Given the description of an element on the screen output the (x, y) to click on. 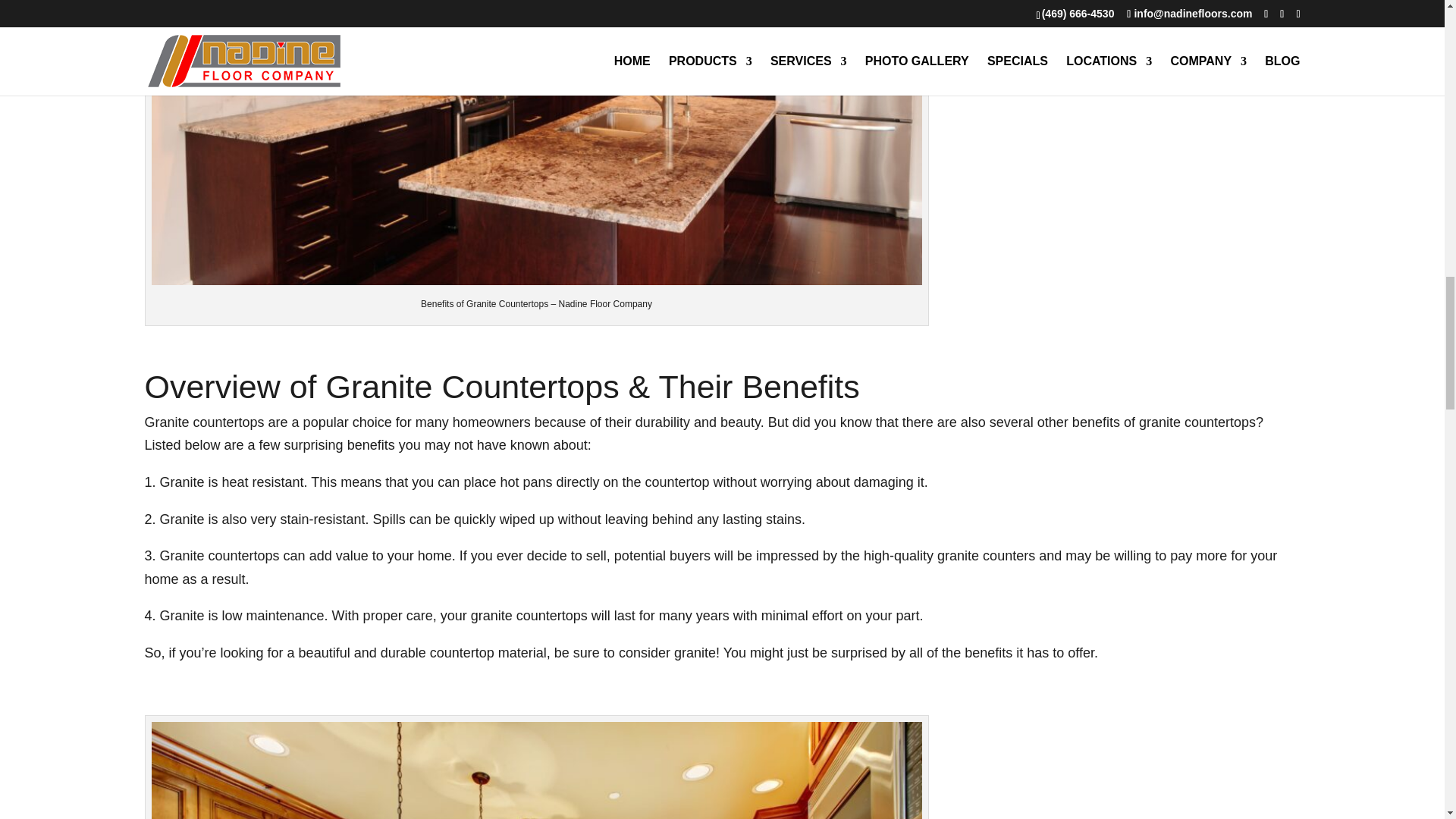
5 Benefits of Granite Countertops Nadine Floor Company 2 1 (536, 770)
